Given the description of an element on the screen output the (x, y) to click on. 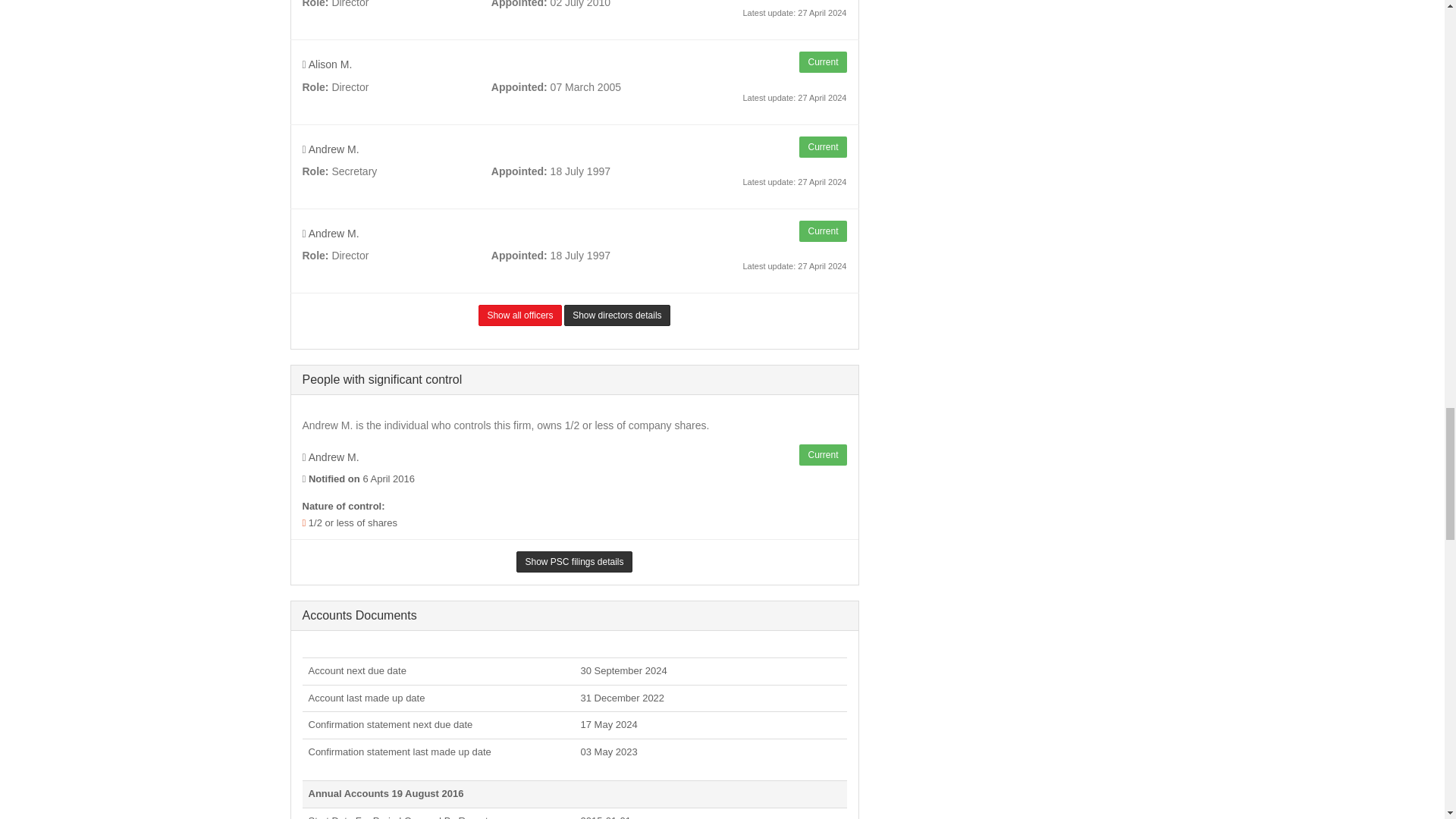
Show PSC filings details (573, 561)
Current (822, 230)
Current (822, 455)
Current (822, 147)
Show all officers (519, 314)
Current (822, 61)
Show directors details (616, 314)
